Given the description of an element on the screen output the (x, y) to click on. 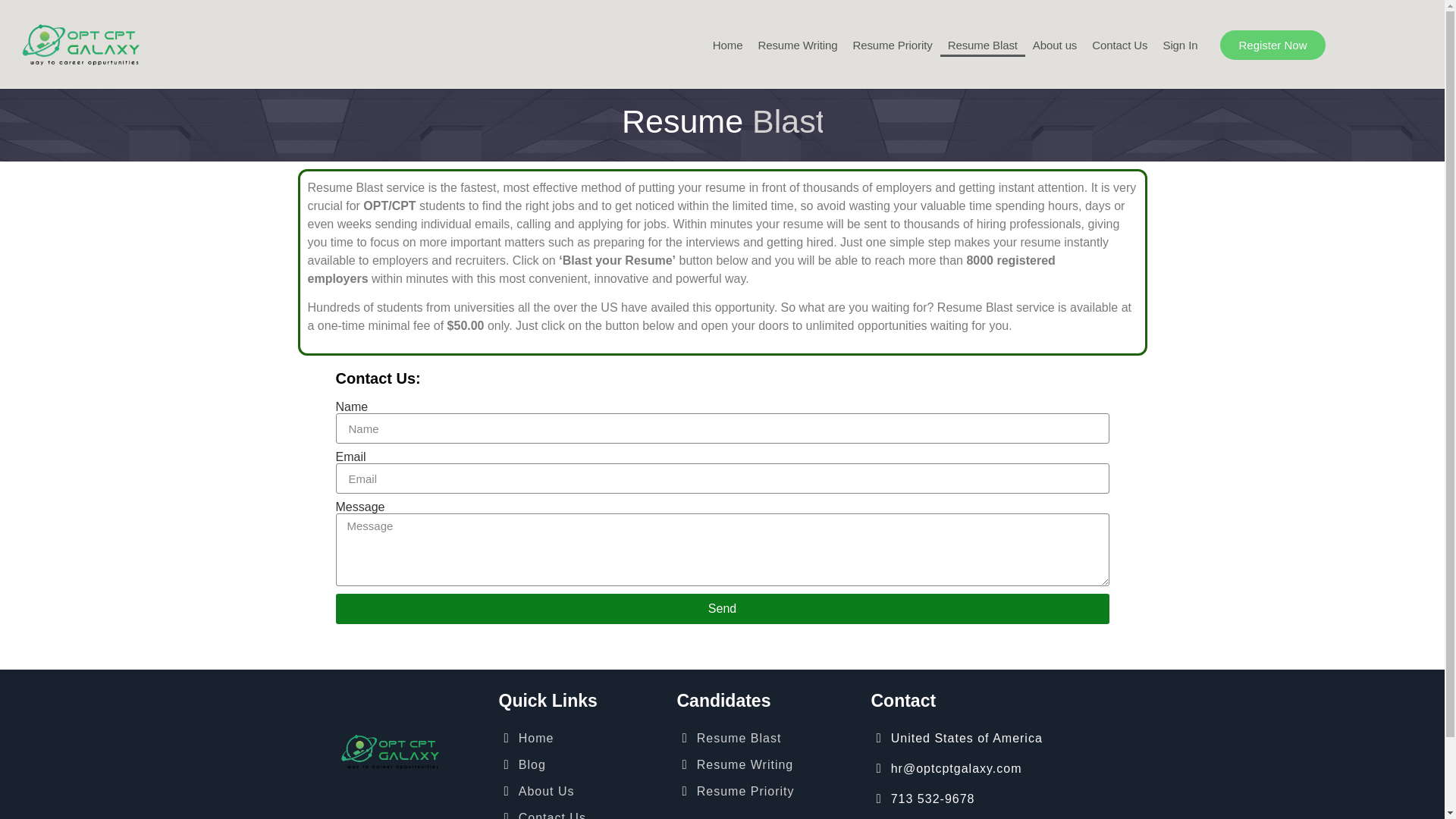
Register Now (1272, 44)
About us (1054, 45)
United States of America (1008, 737)
Blog (580, 764)
Resume Blast (766, 737)
Resume Priority (891, 45)
Send (721, 608)
About Us (580, 791)
Contact Us (580, 811)
Resume Writing (796, 45)
Contact Us (1119, 45)
Sign In (1179, 45)
Resume Priority (766, 791)
Home (580, 737)
713 532-9678 (1008, 798)
